Given the description of an element on the screen output the (x, y) to click on. 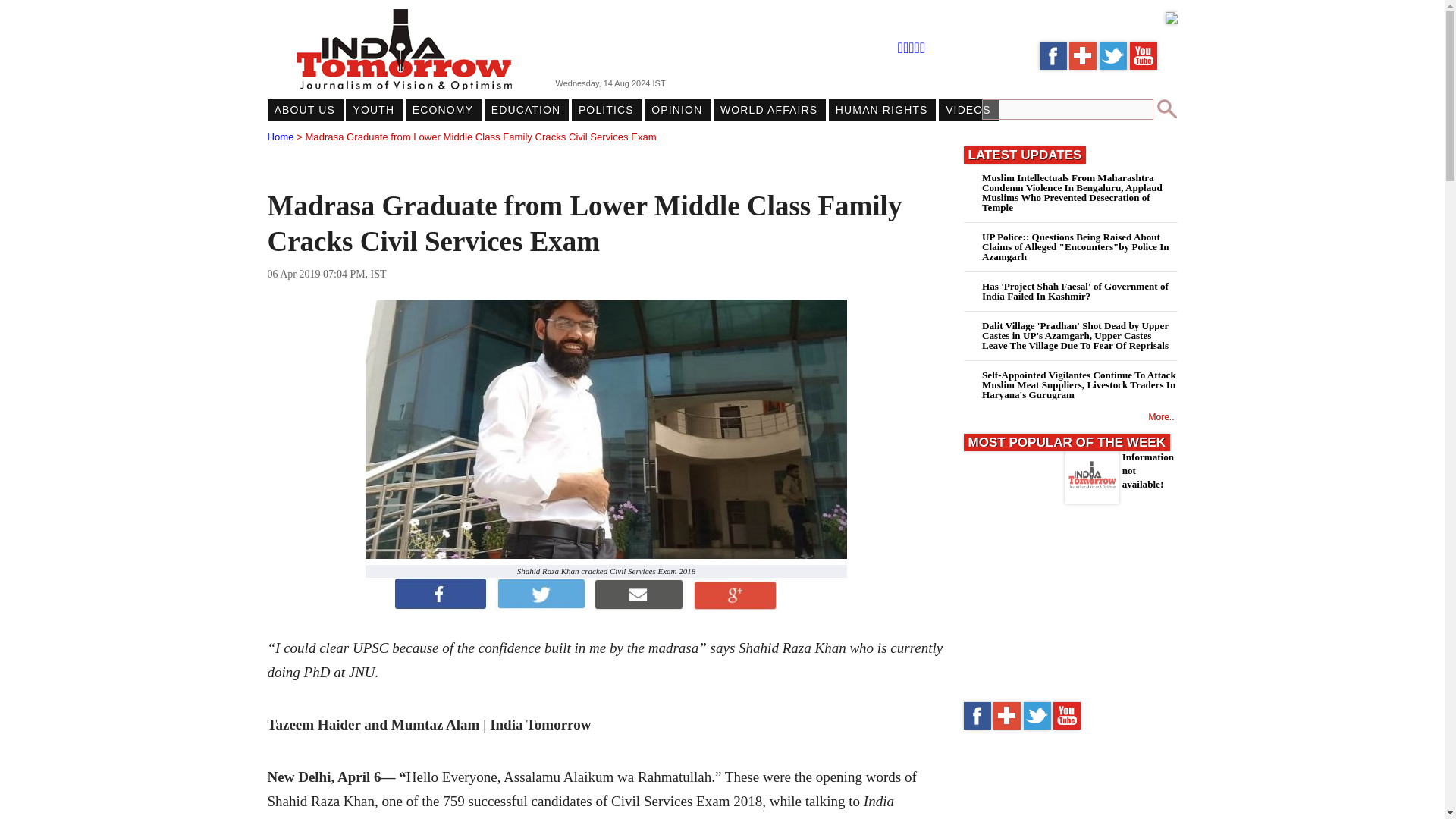
Home (280, 136)
ITN (1053, 66)
twitter (1112, 66)
facebook (976, 726)
POLITICS (606, 110)
EDUCATION (525, 110)
HUMAN RIGHTS (881, 110)
Home (280, 136)
YOUTH (373, 110)
WORLD AFFAIRS (768, 110)
